Given the description of an element on the screen output the (x, y) to click on. 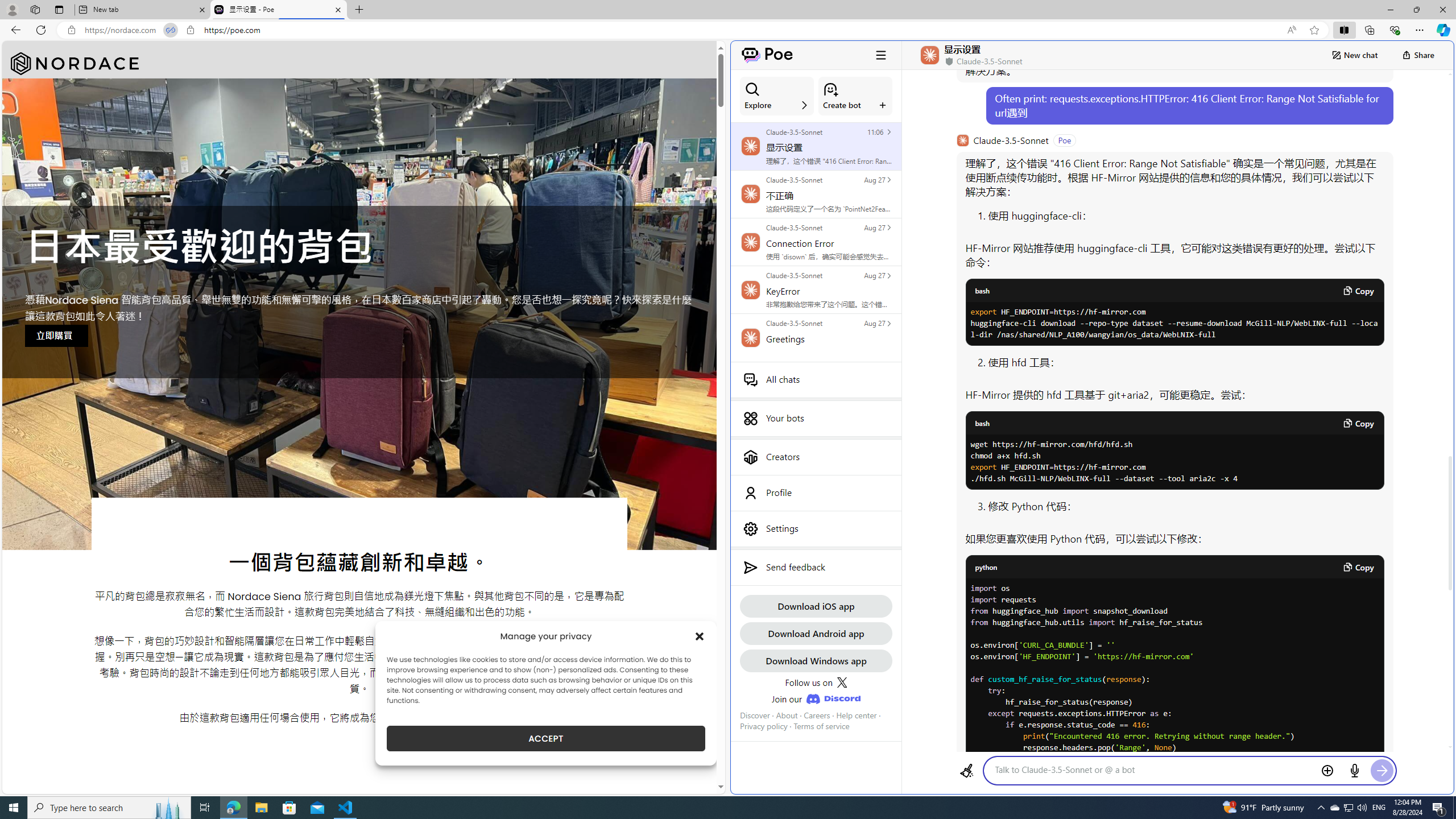
Careers (816, 714)
Send feedback (815, 567)
Class: ManageBotsCardSection_createBotIcon__9JUYg (830, 89)
Download Android app (815, 633)
Join our (815, 698)
Download Windows app (815, 660)
Terms of service (821, 726)
